Given the description of an element on the screen output the (x, y) to click on. 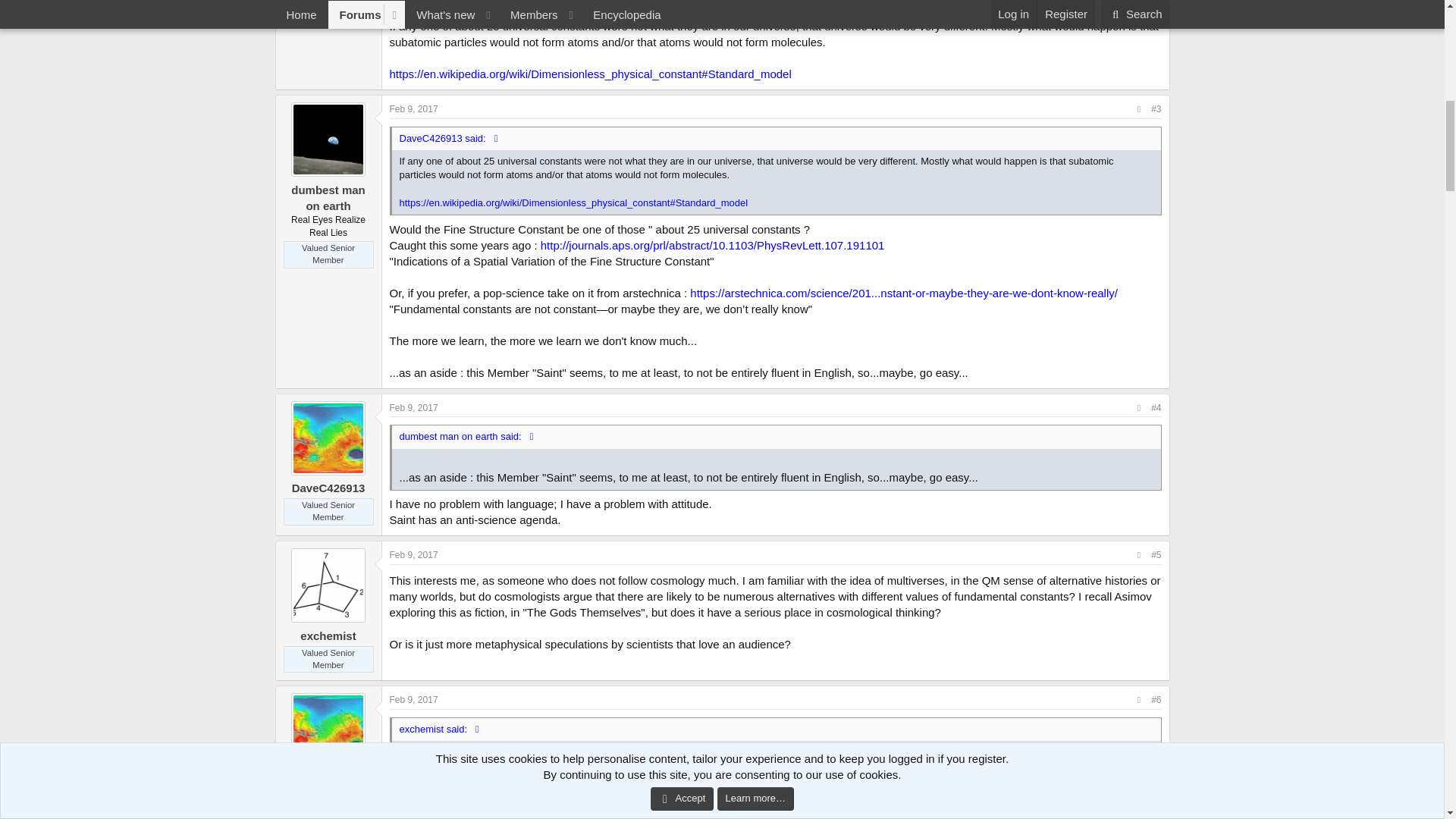
Feb 9, 2017 at 4:29 AM (414, 109)
Feb 9, 2017 at 3:22 PM (414, 554)
Feb 9, 2017 at 3:34 PM (414, 699)
Feb 9, 2017 at 3:11 PM (414, 407)
